Given the description of an element on the screen output the (x, y) to click on. 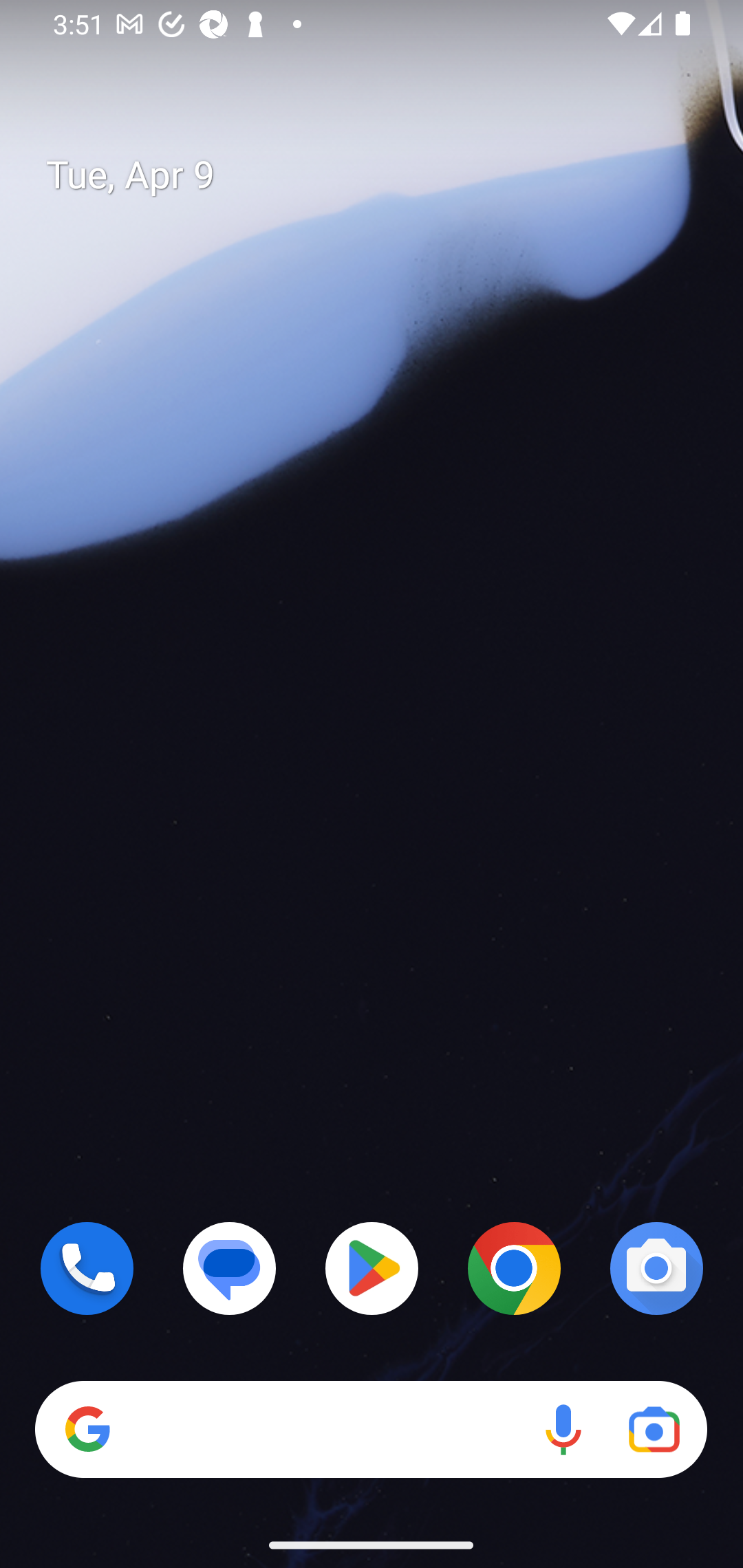
Tue, Apr 9 (386, 175)
Phone (86, 1268)
Messages (229, 1268)
Play Store (371, 1268)
Chrome (513, 1268)
Camera (656, 1268)
Search Voice search Google Lens (370, 1429)
Voice search (562, 1429)
Google Lens (653, 1429)
